Given the description of an element on the screen output the (x, y) to click on. 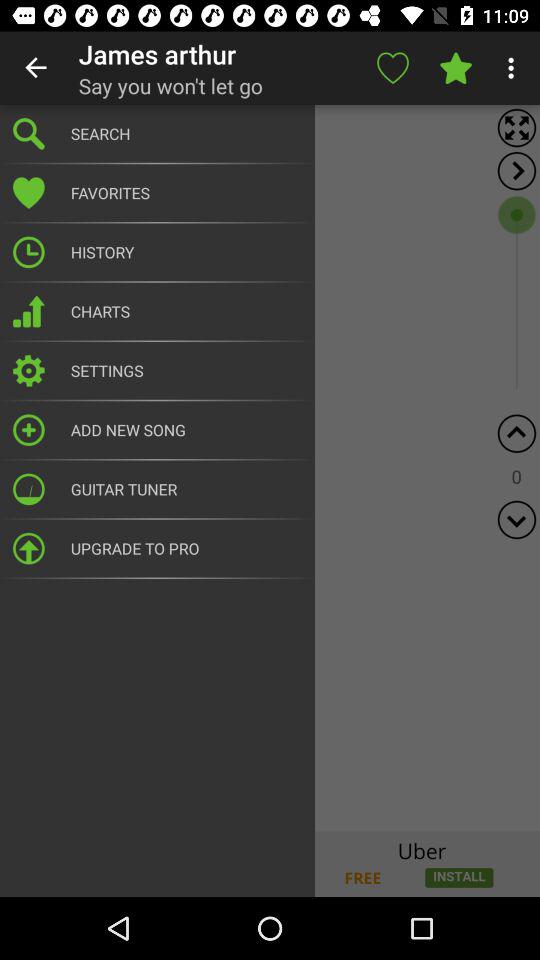
banner advertisement (270, 864)
